Given the description of an element on the screen output the (x, y) to click on. 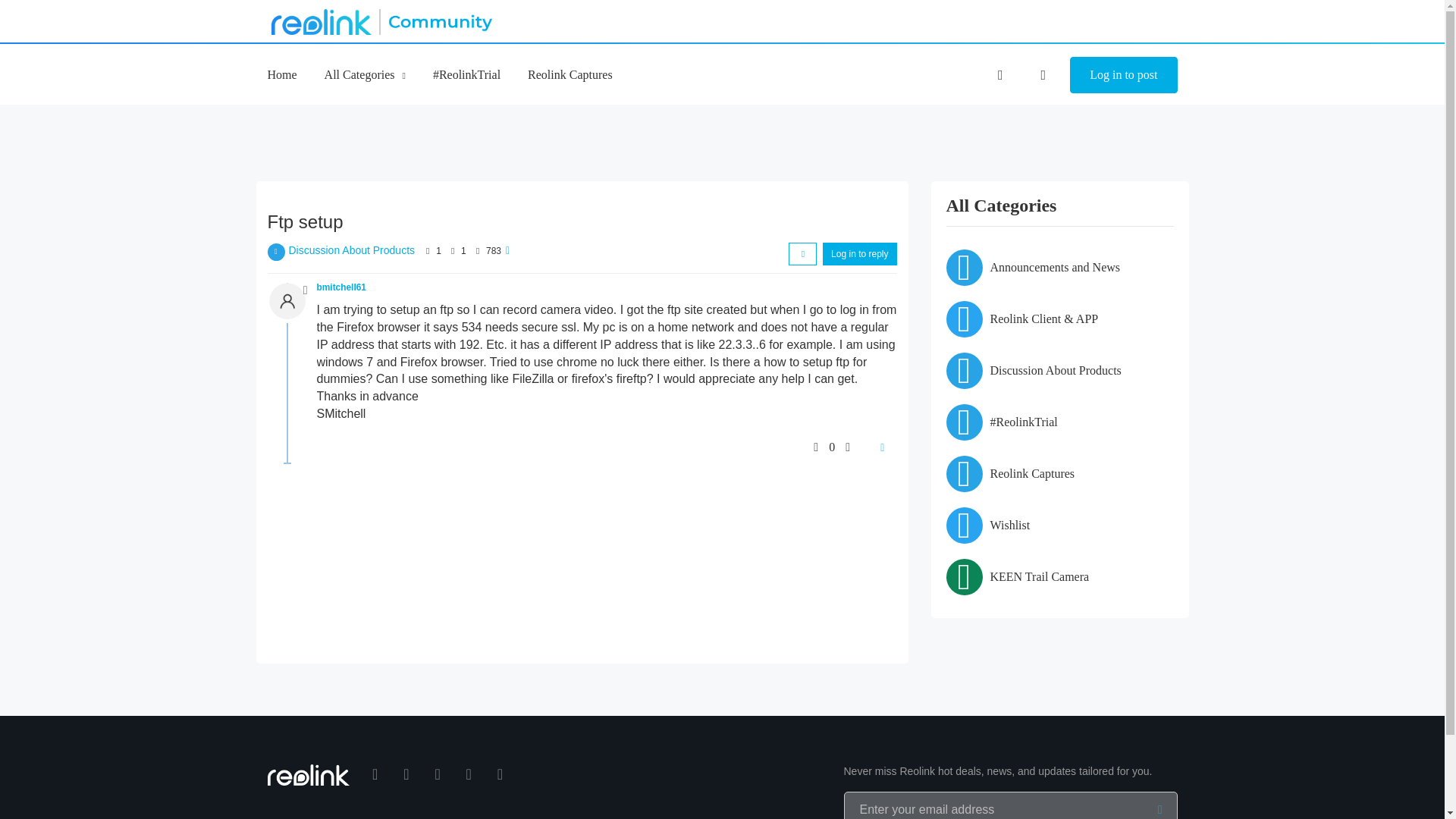
Home (281, 74)
All Categories (365, 74)
Discussion About Products (351, 250)
Sort by (802, 253)
Reolink Captures (569, 74)
Log in to reply (859, 253)
Views (477, 250)
Posts (452, 250)
bmitchell61 (341, 286)
Log in to post (1123, 75)
Posters (427, 250)
783 (493, 250)
